Given the description of an element on the screen output the (x, y) to click on. 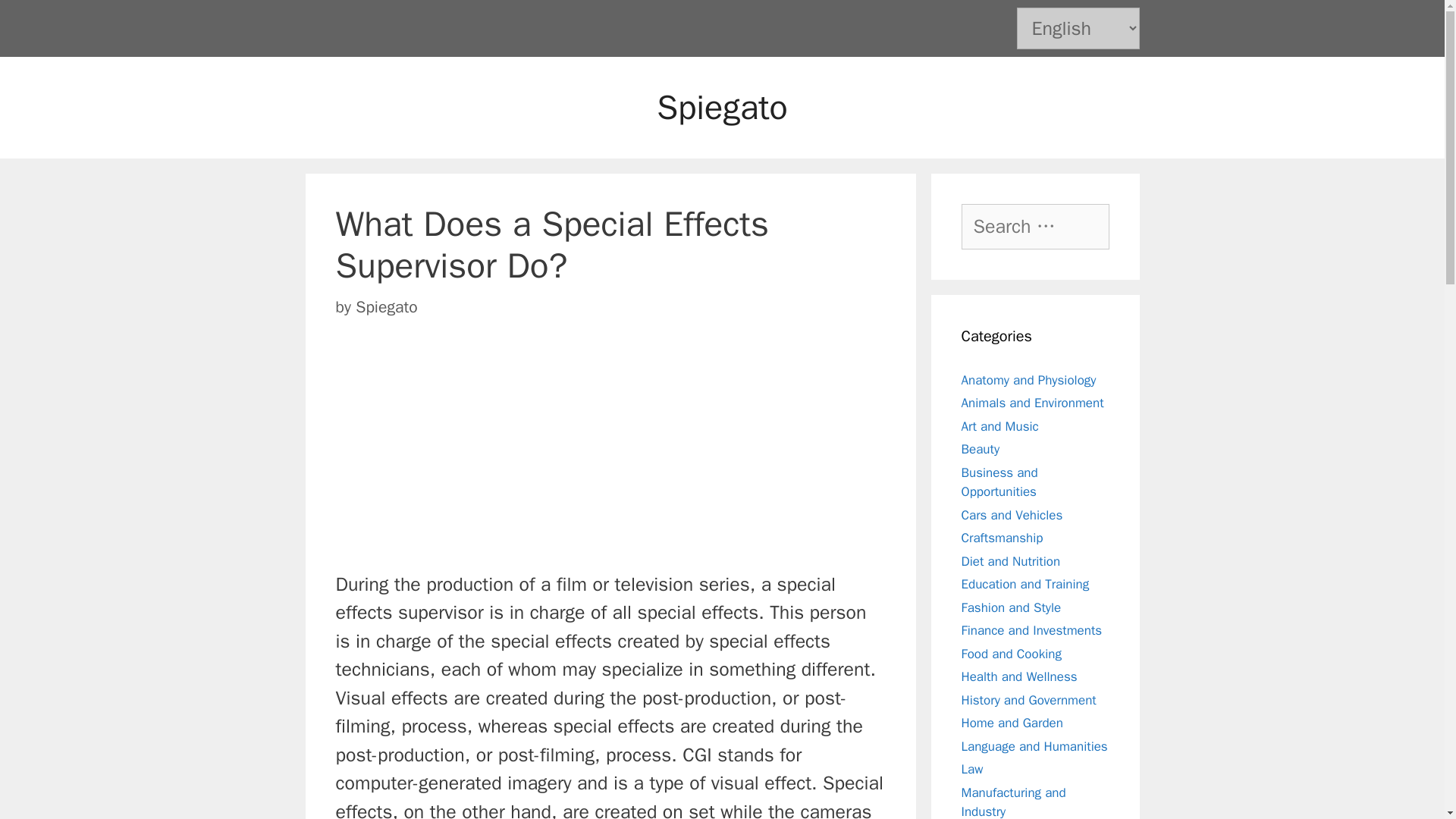
View all posts by Spiegato (385, 306)
Manufacturing and Industry (1012, 801)
Search for: (1034, 226)
Business and Opportunities (999, 481)
Food and Cooking (1010, 653)
Beauty (980, 449)
Animals and Environment (1031, 402)
Education and Training (1024, 584)
Law (972, 769)
Craftsmanship (1001, 537)
